Given the description of an element on the screen output the (x, y) to click on. 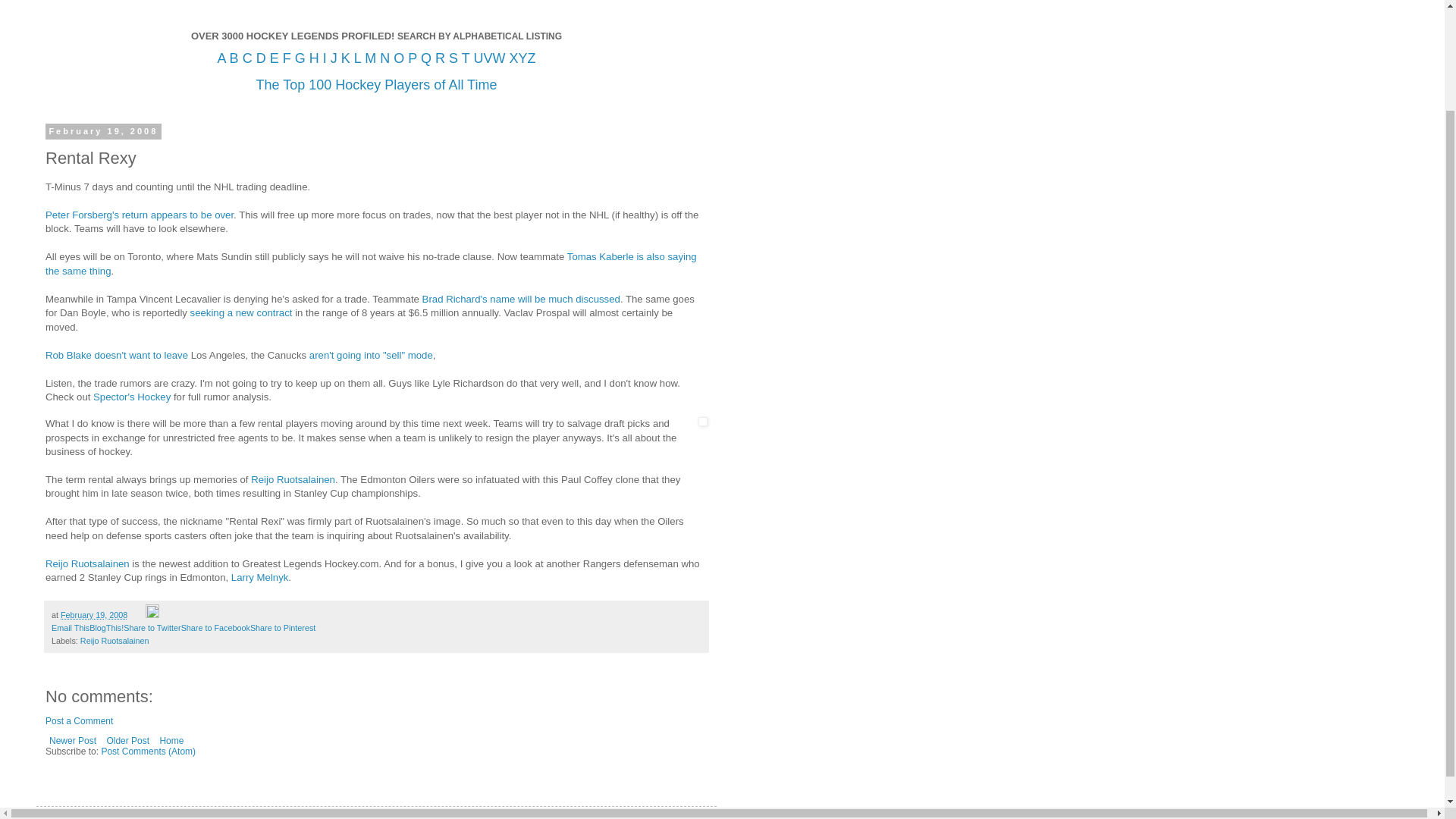
Reijo Ruotsalainen (292, 479)
Older Post (126, 741)
Share to Facebook (215, 627)
Tomas Kaberle is also saying the same thing (371, 263)
Peter Forsberg's return appears to be over (138, 214)
XYZ (521, 58)
Reijo Ruotsalainen (87, 563)
Share to Twitter (151, 627)
February 19, 2008 (94, 614)
UVW (489, 58)
Edit Post (151, 614)
BlogThis! (105, 627)
permanent link (94, 614)
Brad Richard's name will be much discussed (521, 298)
Email This (69, 627)
